Given the description of an element on the screen output the (x, y) to click on. 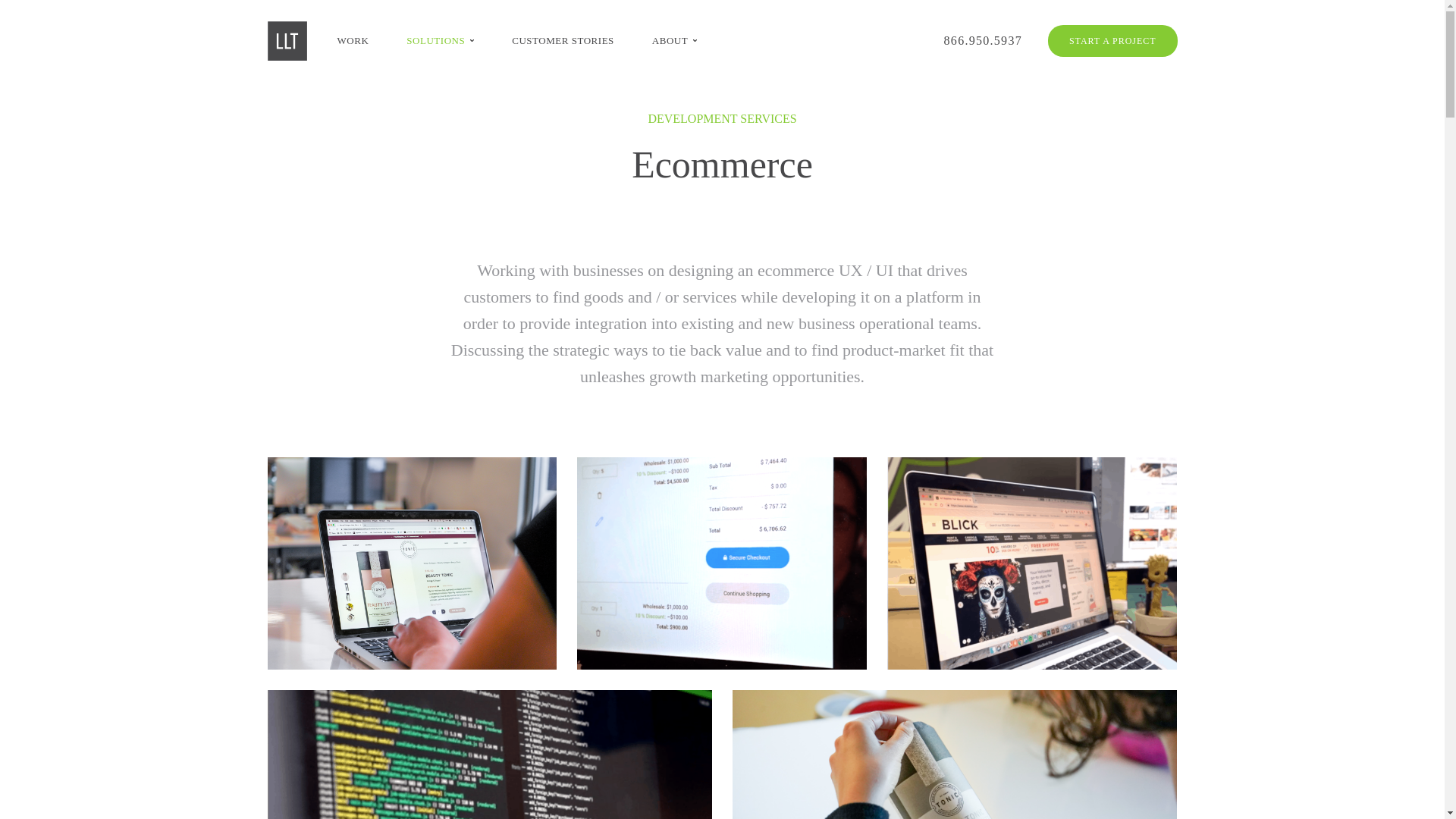
CUSTOMER STORIES (563, 40)
SOLUTIONS (440, 40)
866.950.5937 (982, 40)
ABOUT (674, 40)
START A PROJECT (1112, 40)
